Given the description of an element on the screen output the (x, y) to click on. 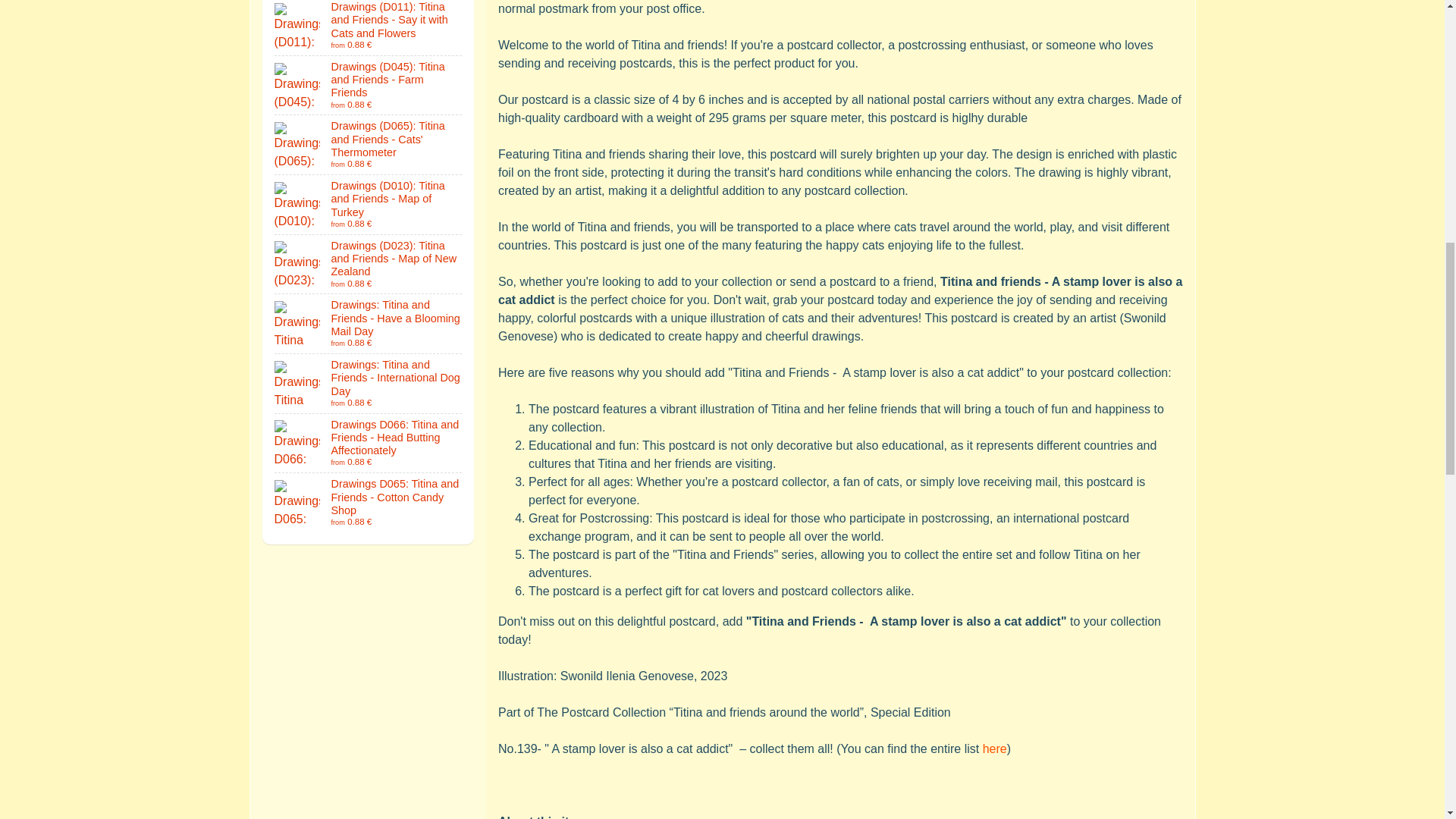
Drawings: Titina and Friends - Have a Blooming Mail Day (369, 323)
Drawings D065: Titina and Friends - Cotton Candy Shop (369, 502)
Drawings: Titina and Friends - International Dog Day (369, 383)
